Given the description of an element on the screen output the (x, y) to click on. 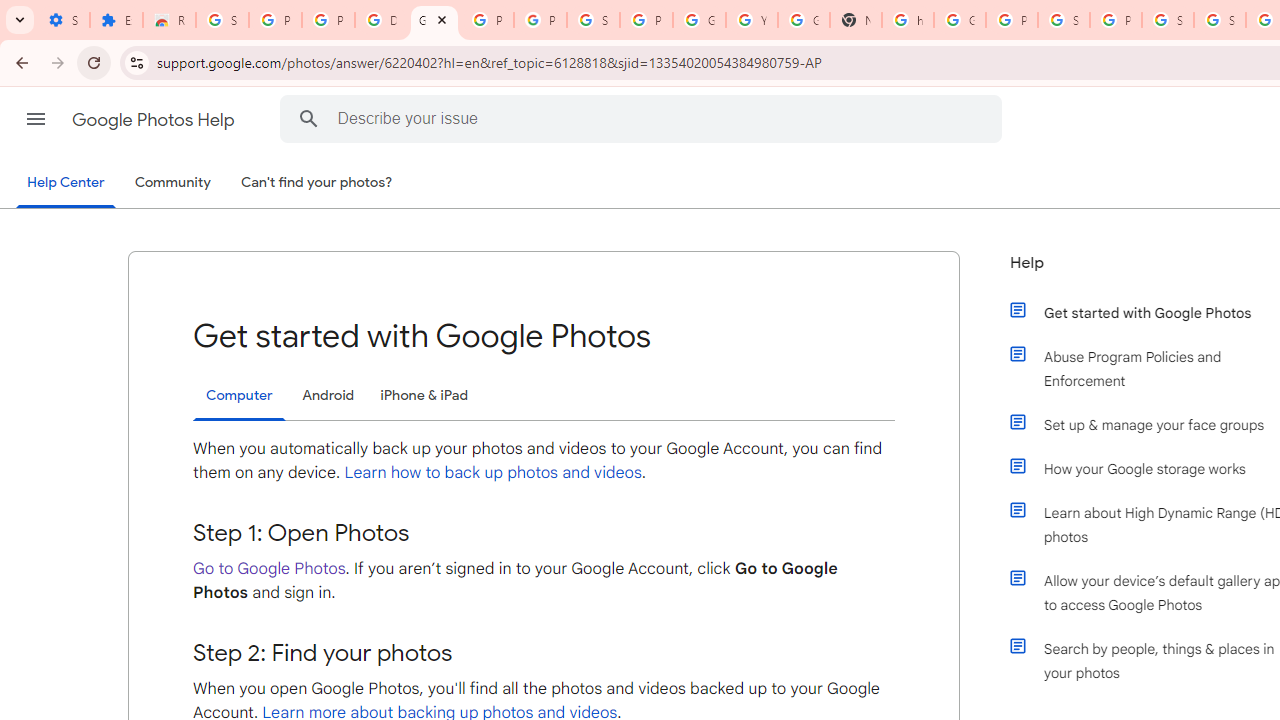
Reviews: Helix Fruit Jump Arcade Game (169, 20)
Search Help Center (309, 118)
Google Photos Help (155, 119)
Can't find your photos? (317, 183)
Android (328, 395)
